Given the description of an element on the screen output the (x, y) to click on. 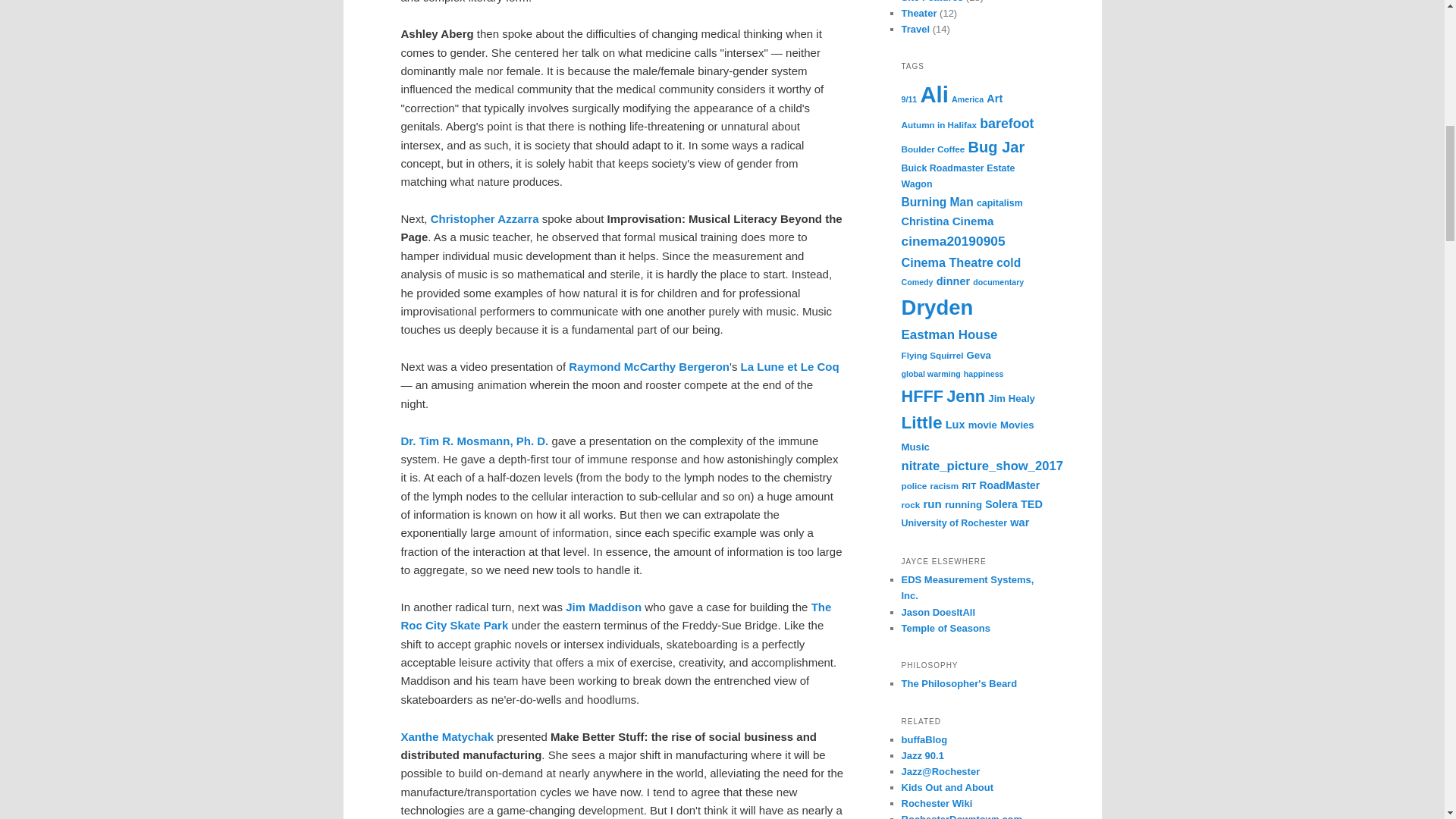
An interesting blog on modern topics of philosophy. (958, 683)
A project that will never end. (945, 627)
Raymond McCarthy Bergeron (649, 366)
Dr. Tim R. Mosmann, Ph. D. (474, 440)
Jason Olshefsky's technical projects and side-work. (938, 612)
Christopher Azzarra (484, 218)
Goings-on in Buffalo (924, 739)
Xanthe Matychak (446, 736)
Jim Maddison (604, 606)
La Lune et Le Coq (790, 366)
The Roc City Skate Park (615, 615)
